Given the description of an element on the screen output the (x, y) to click on. 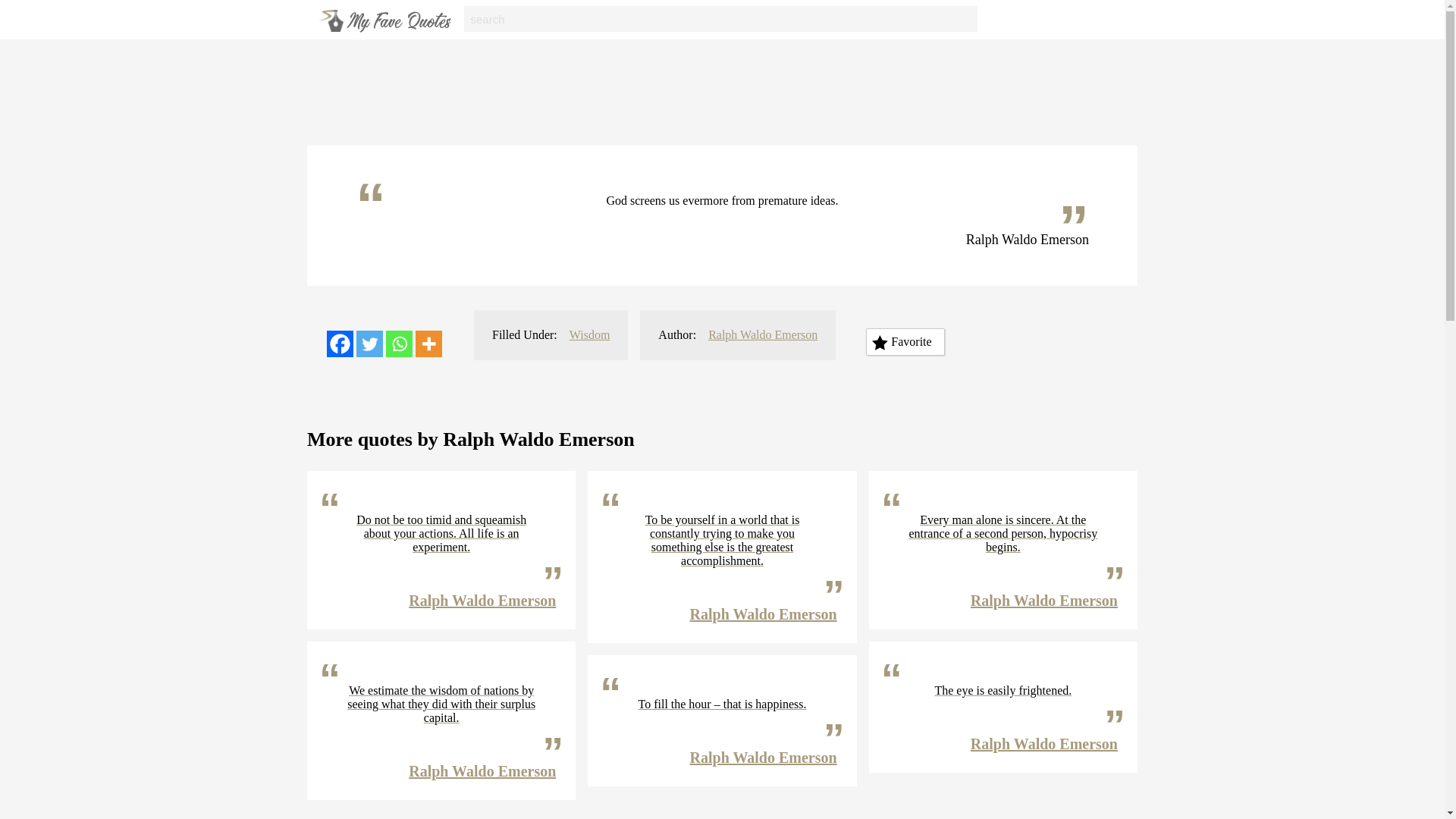
Ralph Waldo Emerson (761, 334)
Ralph Waldo Emerson (482, 770)
More (428, 343)
Facebook (339, 343)
Ralph Waldo Emerson (763, 614)
The eye is easily frightened. (1002, 690)
Ralph Waldo Emerson (482, 600)
Ralph Waldo Emerson (763, 757)
